Given the description of an element on the screen output the (x, y) to click on. 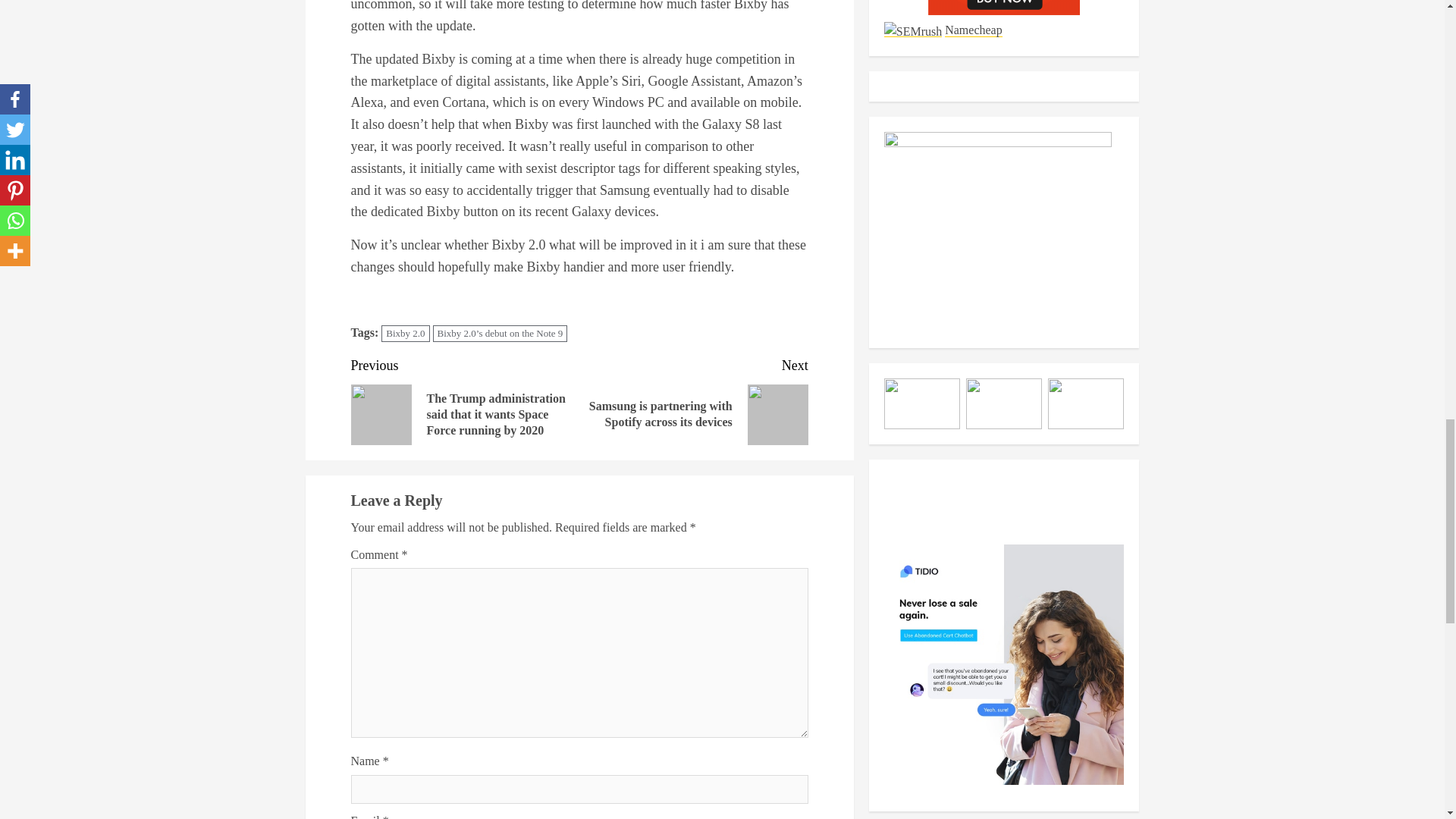
Bixby 2.0 (405, 334)
